Given the description of an element on the screen output the (x, y) to click on. 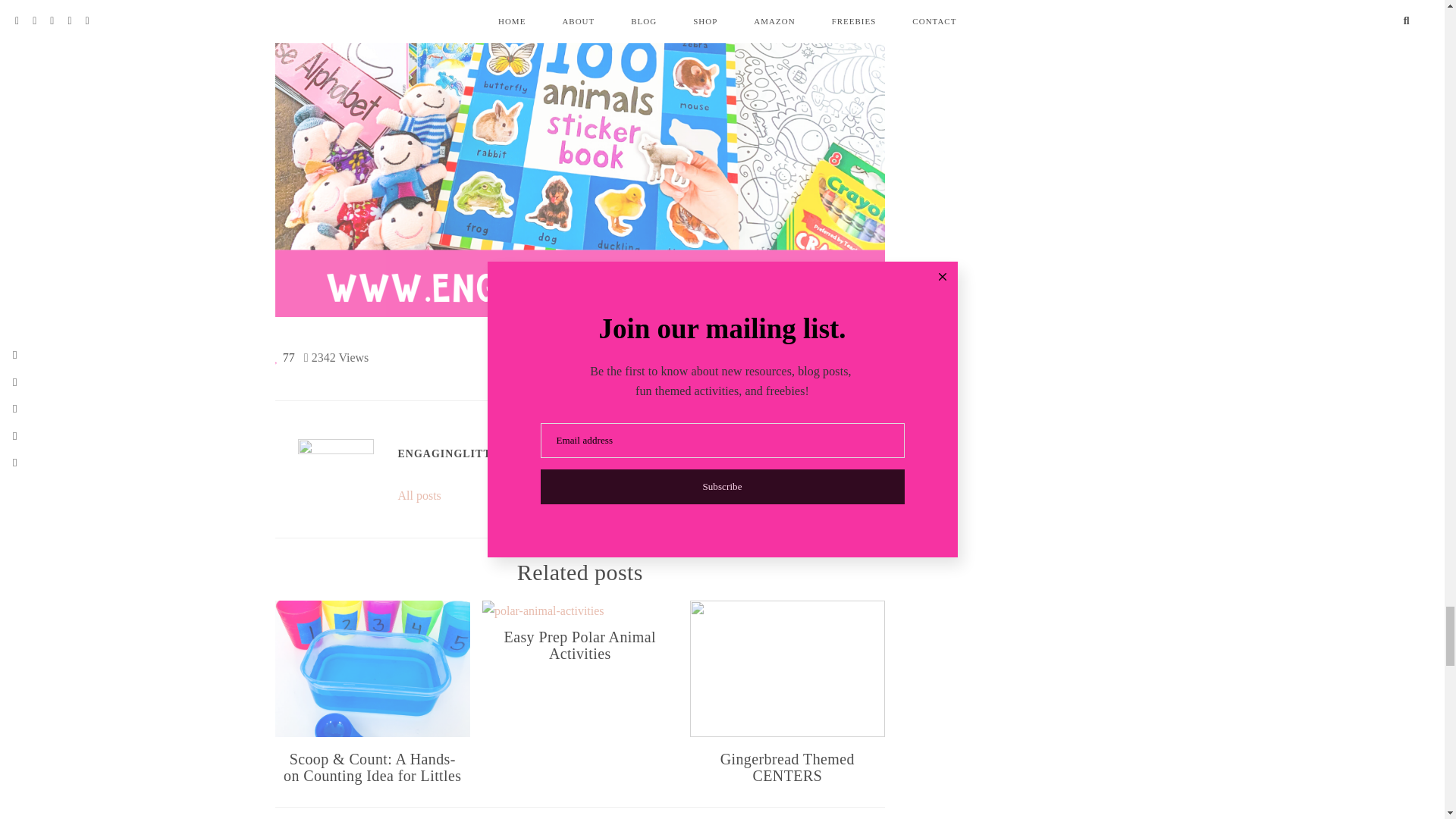
engaginglittles (334, 476)
Like (284, 357)
